Given the description of an element on the screen output the (x, y) to click on. 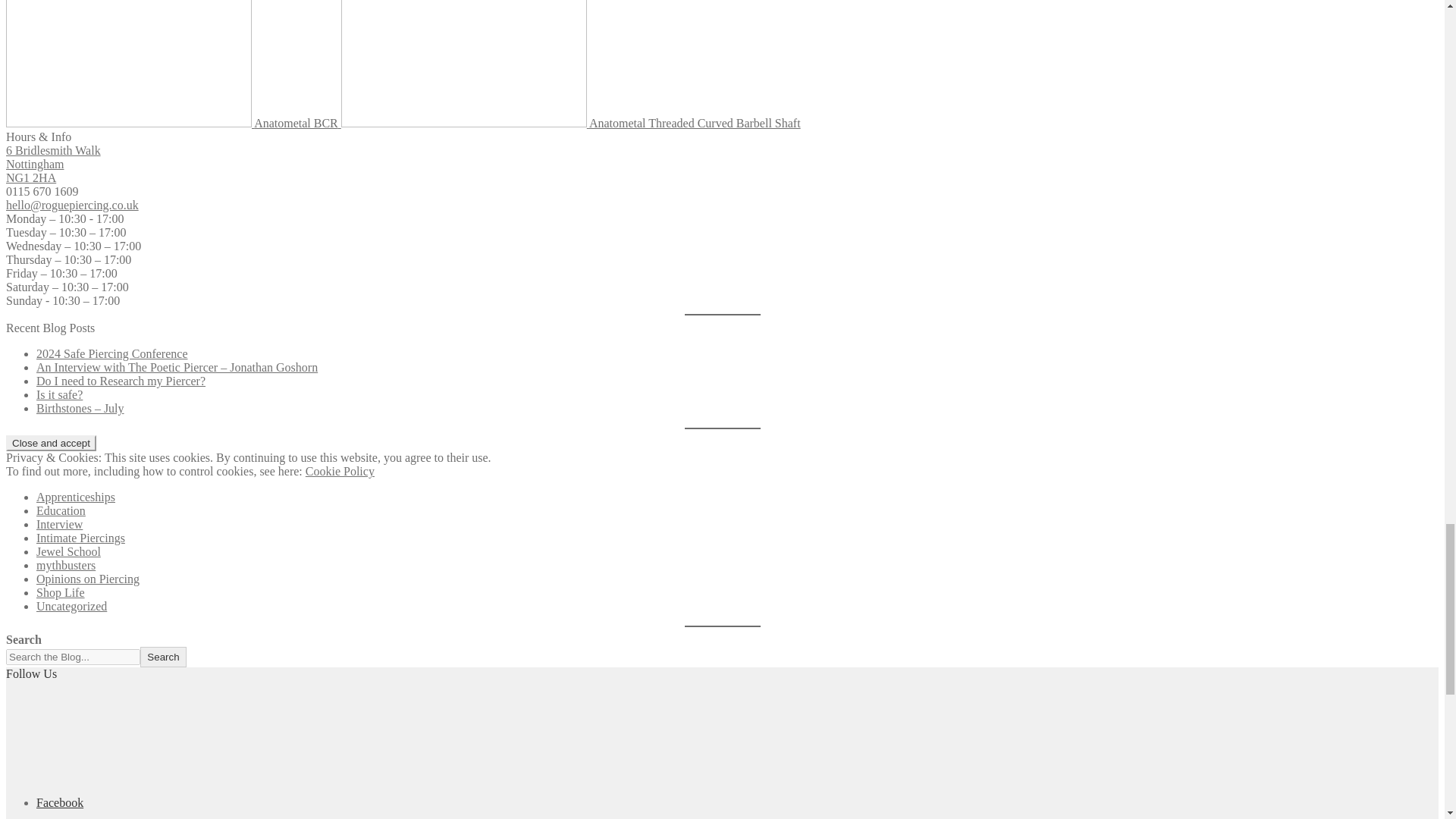
Close and accept (50, 442)
